Given the description of an element on the screen output the (x, y) to click on. 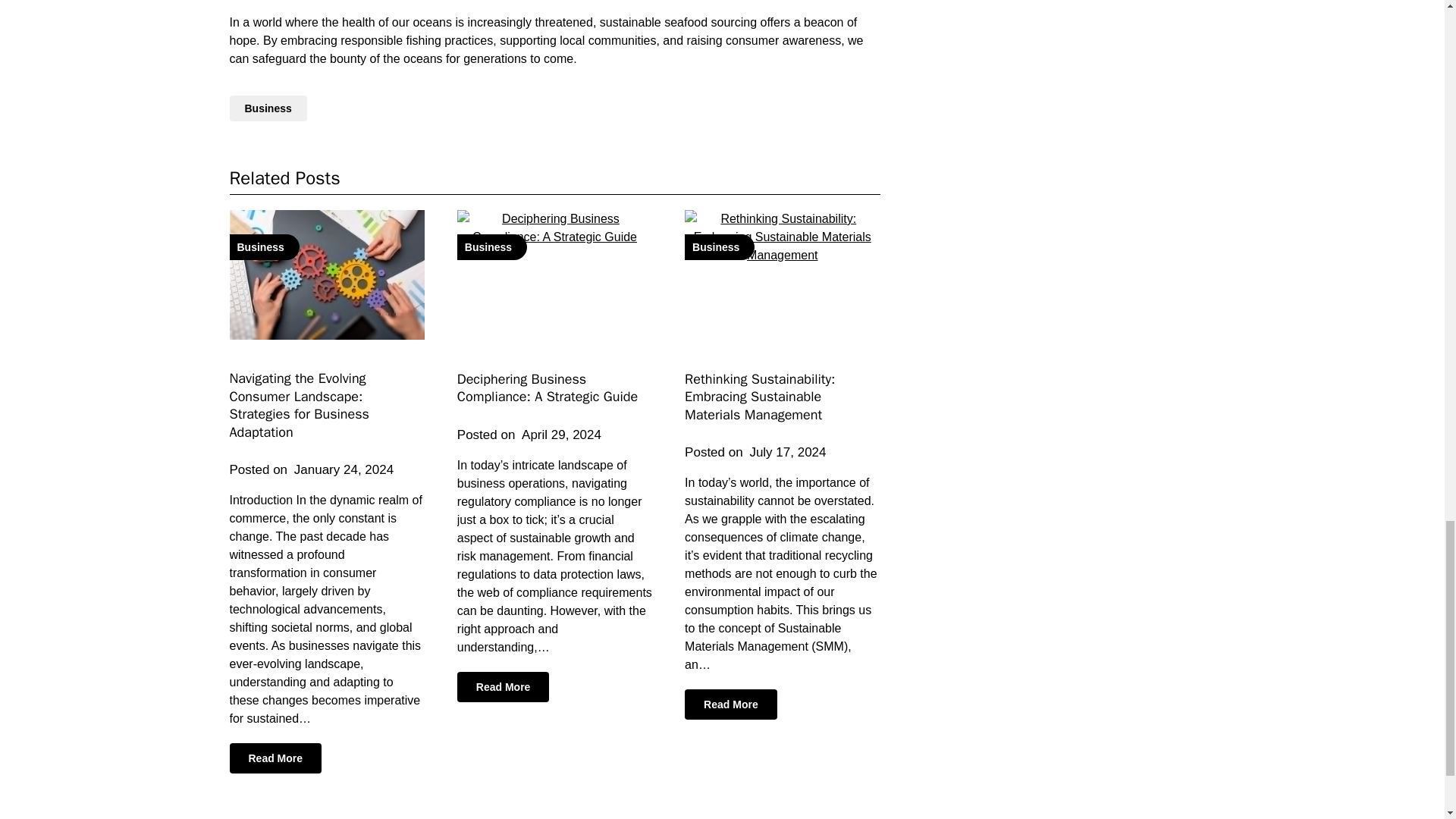
Read More (274, 757)
July 17, 2024 (787, 452)
Business (266, 108)
Deciphering Business Compliance: A Strategic Guide (547, 387)
Business (554, 274)
Read More (503, 686)
January 24, 2024 (343, 469)
Business (781, 274)
April 29, 2024 (561, 434)
Business (325, 274)
Read More (730, 704)
